Given the description of an element on the screen output the (x, y) to click on. 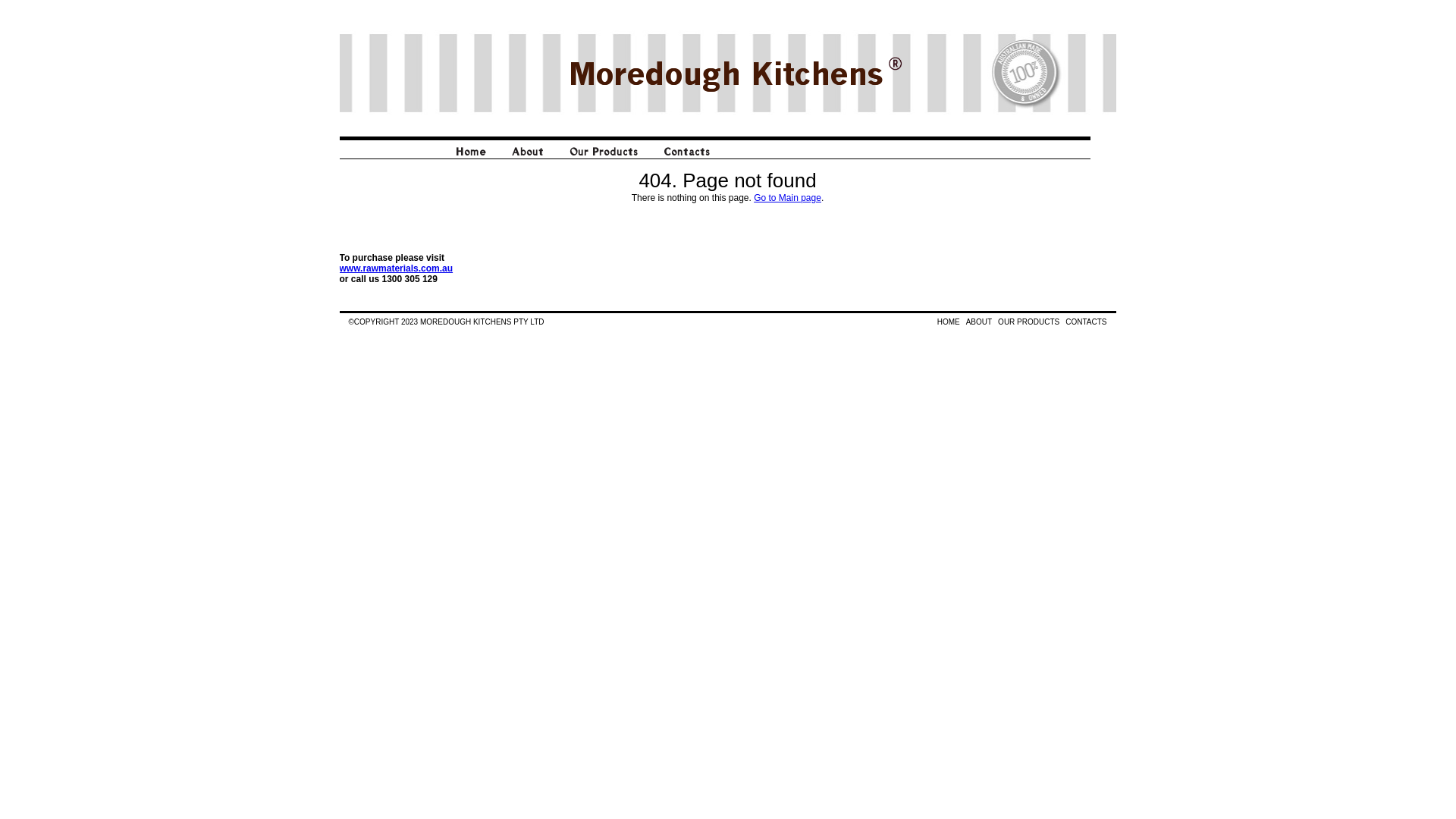
ABOUT Element type: text (978, 321)
OUR PRODUCTS Element type: text (1028, 321)
Contacts Element type: text (686, 158)
www.rawmaterials.com.au Element type: text (396, 268)
HOME Element type: text (948, 321)
Our Products Element type: text (603, 158)
Go to Main page Element type: text (787, 197)
CONTACTS Element type: text (1085, 321)
Home Element type: text (470, 158)
Moredough Kitchens Element type: text (724, 72)
About Element type: text (527, 158)
